Given the description of an element on the screen output the (x, y) to click on. 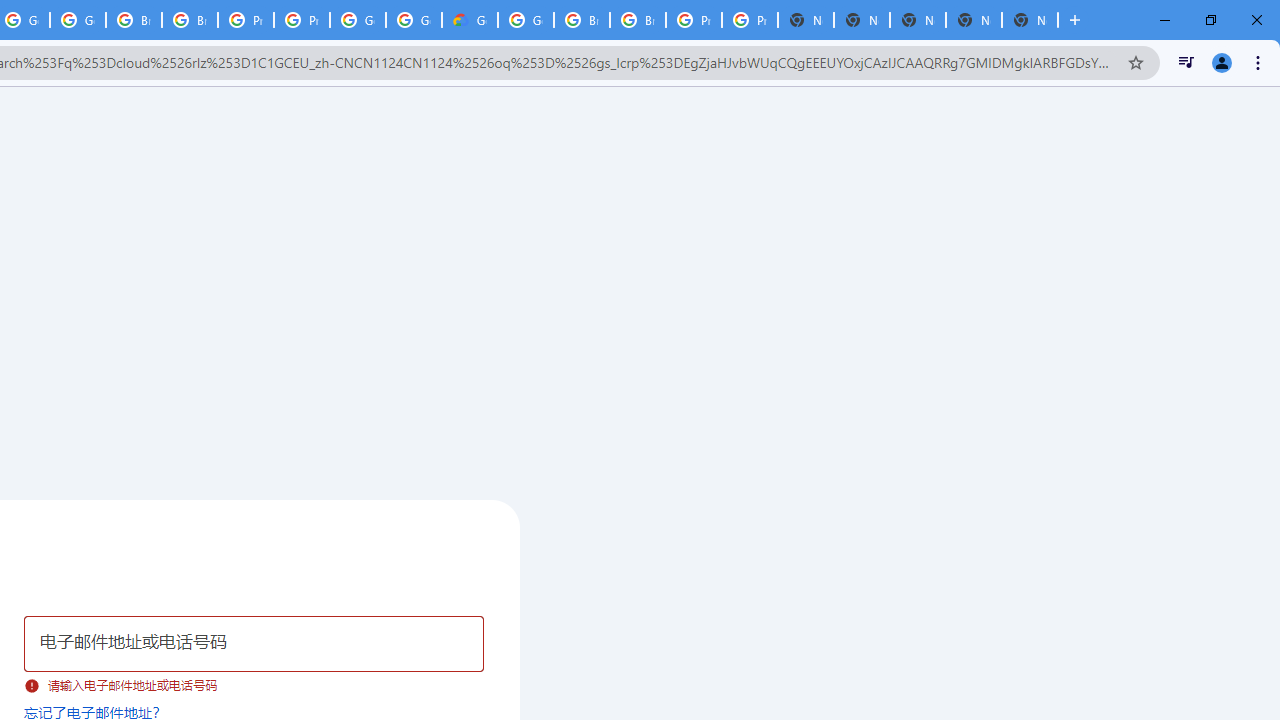
Browse Chrome as a guest - Computer - Google Chrome Help (582, 20)
New Tab (1030, 20)
Control your music, videos, and more (1185, 62)
